Given the description of an element on the screen output the (x, y) to click on. 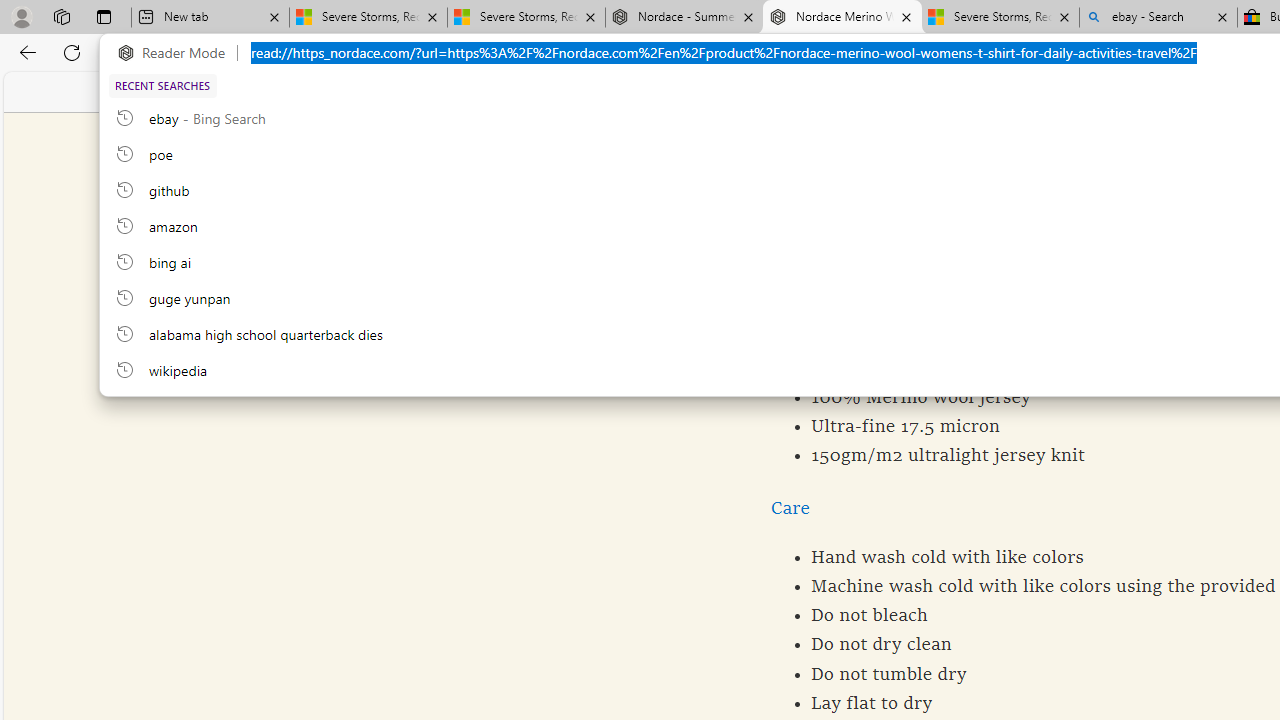
Fabric (797, 300)
Reader Mode (177, 53)
Care (790, 507)
